Given the description of an element on the screen output the (x, y) to click on. 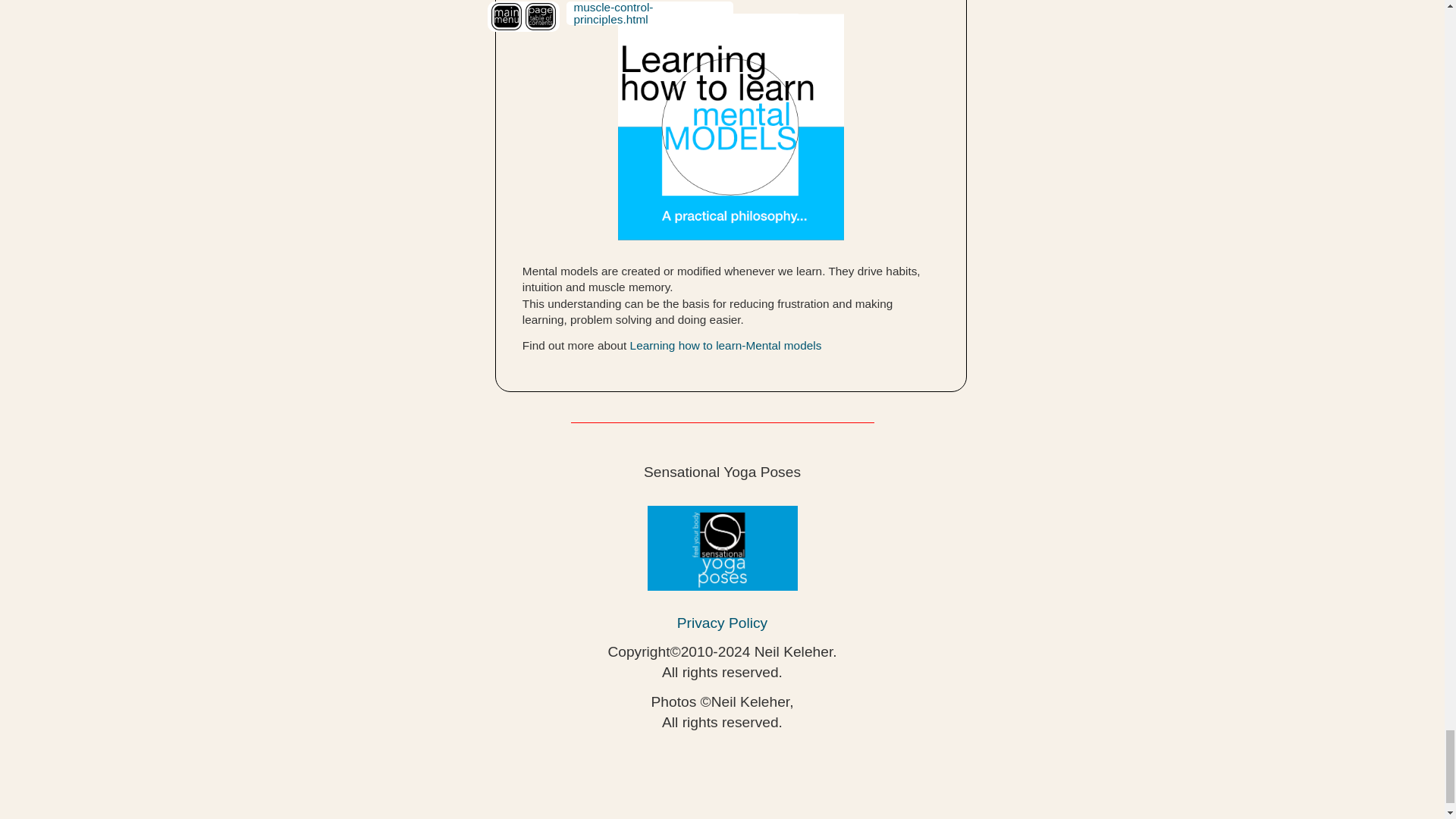
logo: Sensational Yoga Poses (722, 547)
